Given the description of an element on the screen output the (x, y) to click on. 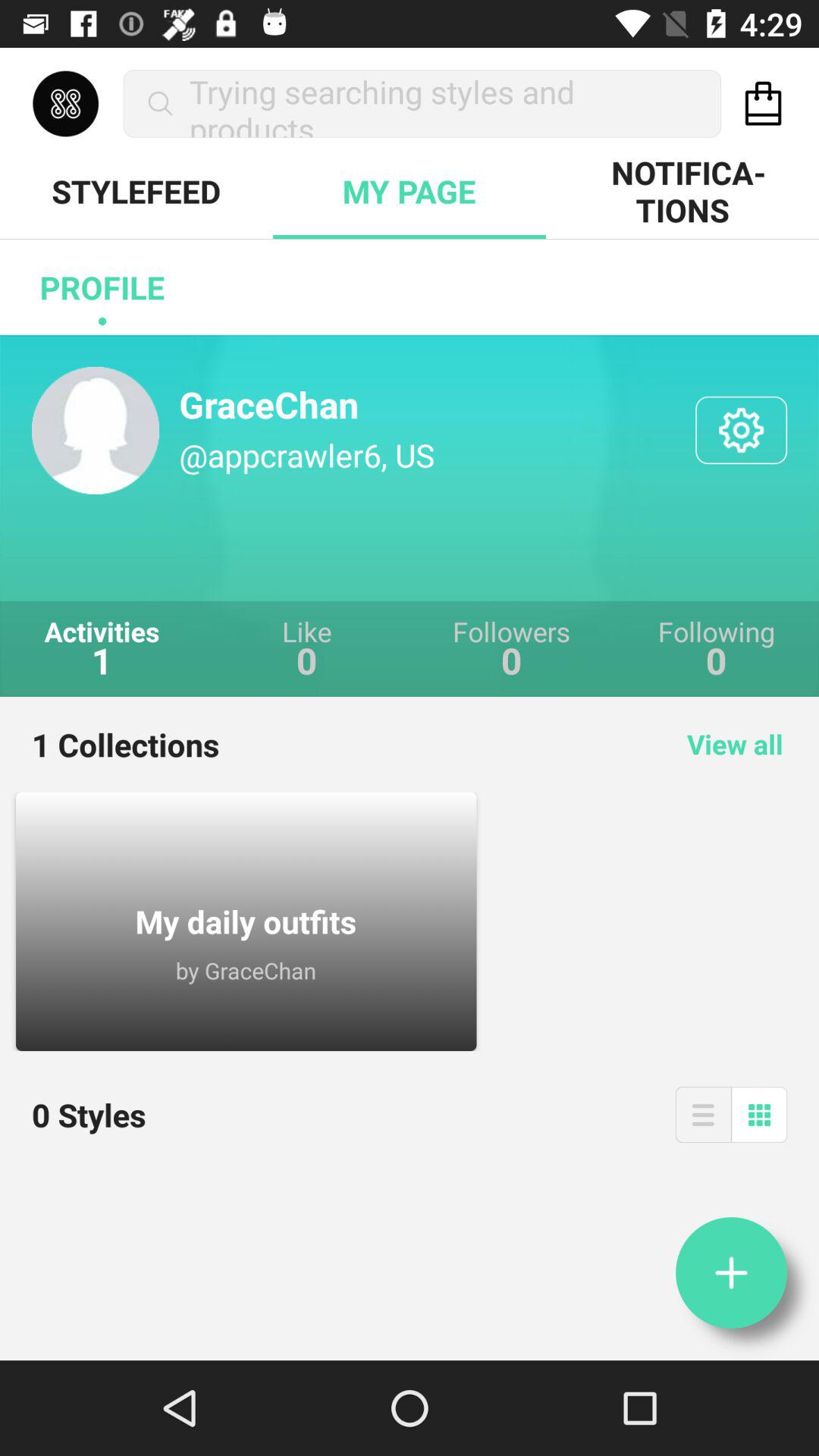
view shopping cart (763, 103)
